Given the description of an element on the screen output the (x, y) to click on. 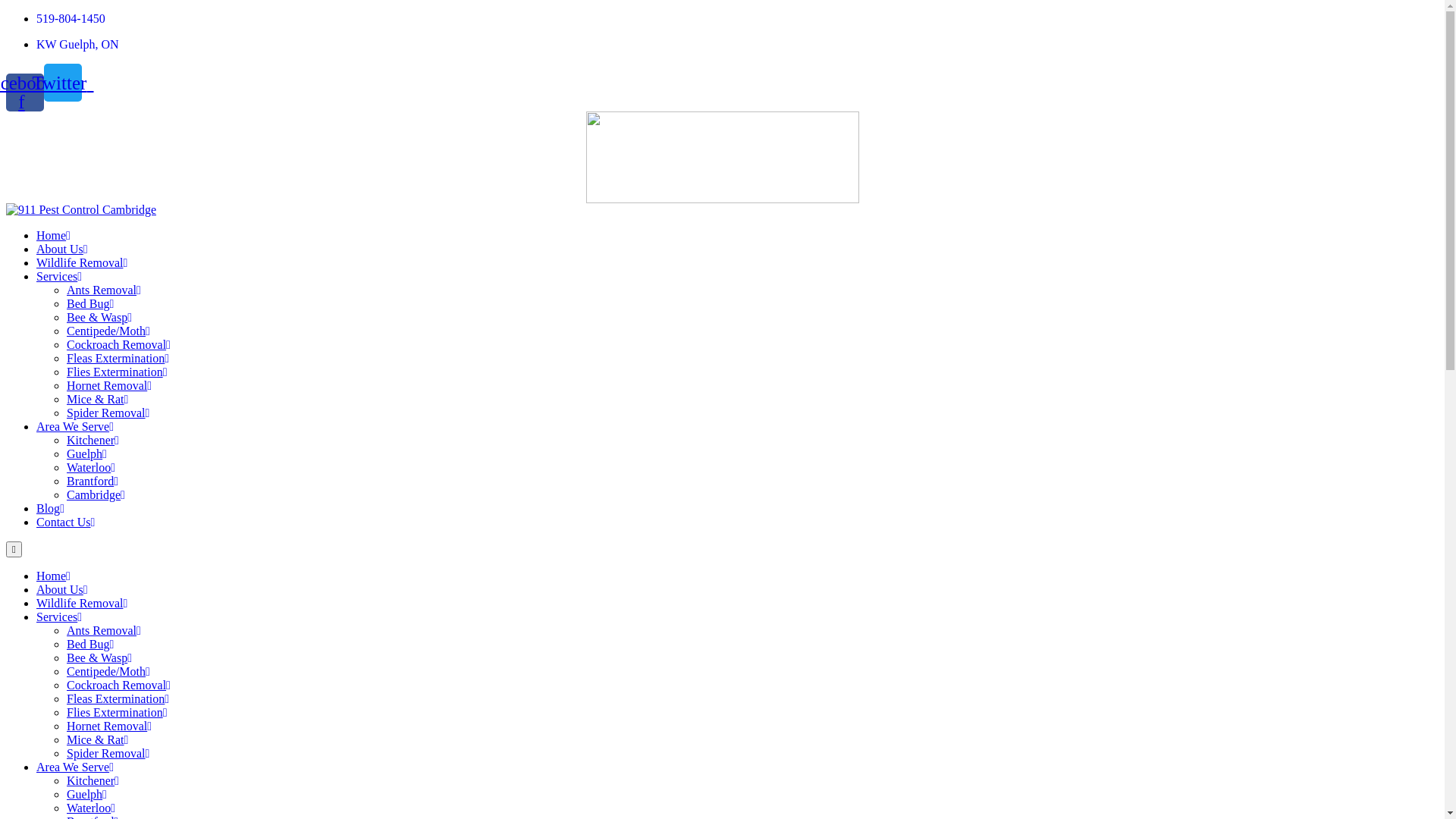
Ants Removal Element type: text (103, 289)
Hornet Removal Element type: text (108, 724)
Bee & Wasp Element type: text (98, 316)
Guelph Element type: text (86, 453)
Kitchener Element type: text (92, 779)
Skip to content Element type: text (6, 12)
Cockroach Removal Element type: text (118, 683)
About Us Element type: text (61, 588)
About Us Element type: text (61, 248)
Cockroach Removal Element type: text (118, 344)
Fleas Extermination Element type: text (117, 357)
Centipede/Moth Element type: text (108, 330)
Area We Serve Element type: text (74, 426)
Blog Element type: text (50, 508)
Services Element type: text (58, 615)
Home Element type: text (53, 574)
Spider Removal Element type: text (107, 752)
Bee & Wasp Element type: text (98, 656)
Contact Us Element type: text (65, 521)
Spider Removal Element type: text (107, 412)
Brantford Element type: text (92, 480)
Home Element type: text (53, 235)
Flies Extermination Element type: text (116, 371)
Flies Extermination Element type: text (116, 711)
Area We Serve Element type: text (74, 765)
Centipede/Moth Element type: text (108, 670)
Wildlife Removal Element type: text (81, 602)
Wildlife Removal Element type: text (81, 262)
Cambridge Element type: text (95, 494)
Bed Bug Element type: text (89, 643)
Ants Removal Element type: text (103, 629)
Bed Bug Element type: text (89, 303)
519-804-1450 Element type: text (70, 18)
Mice & Rat Element type: text (97, 738)
Fleas Extermination Element type: text (117, 697)
Waterloo Element type: text (90, 467)
KW Guelph, ON Element type: text (77, 43)
Waterloo Element type: text (90, 806)
Kitchener Element type: text (92, 439)
Guelph Element type: text (86, 793)
Hornet Removal Element type: text (108, 385)
Mice & Rat Element type: text (97, 398)
Twitter Element type: text (62, 82)
Facebook-f Element type: text (24, 91)
Services Element type: text (58, 275)
